Given the description of an element on the screen output the (x, y) to click on. 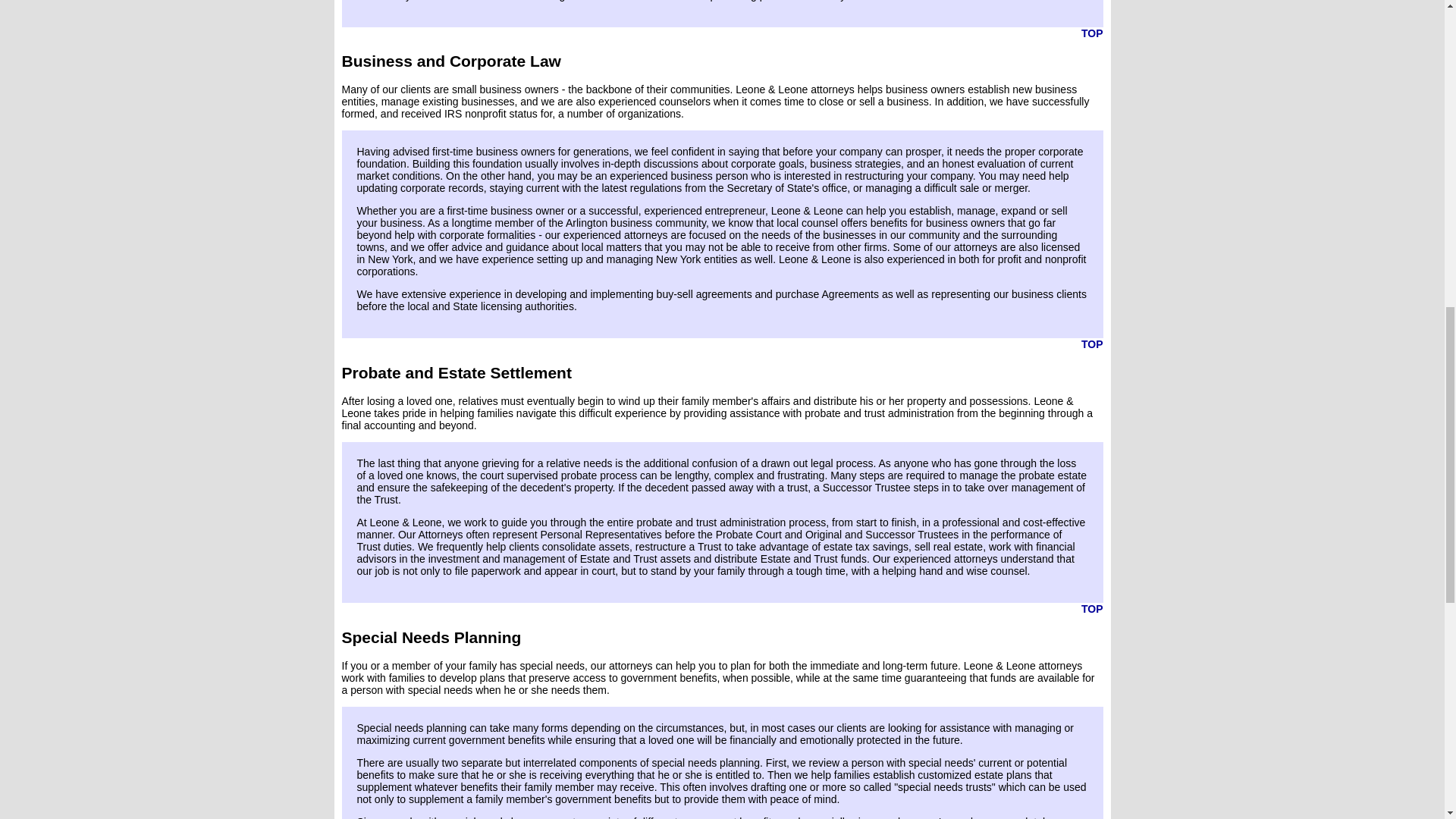
TOP (1092, 608)
TOP (1092, 344)
TOP (1092, 33)
